Given the description of an element on the screen output the (x, y) to click on. 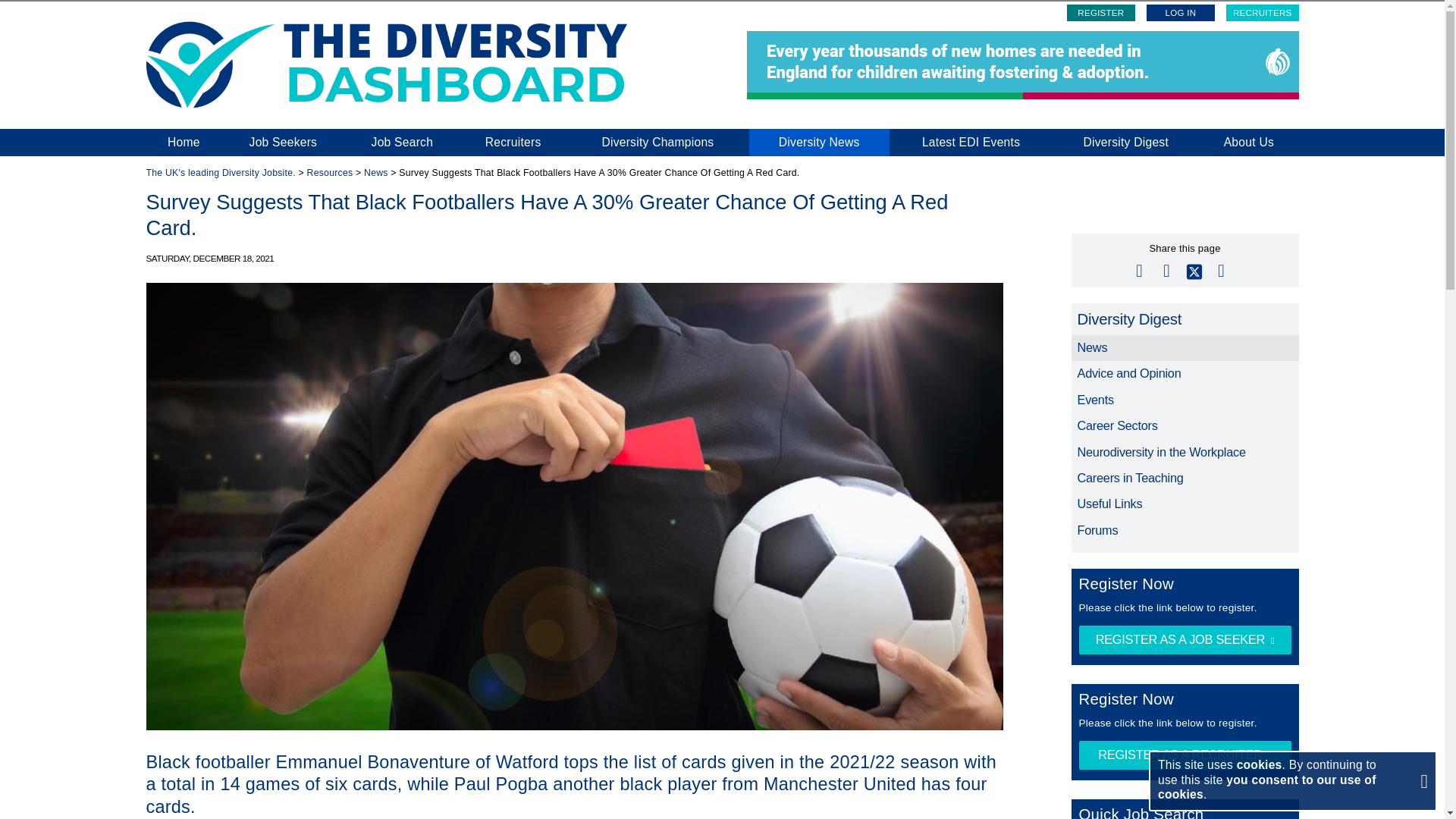
Recruiters (513, 142)
Diversity Digest (1184, 319)
Job Seekers (282, 142)
The UK's leading Diversity Jobsite. (220, 172)
Diversity News (819, 142)
Share via Facebook (1165, 268)
About Us (1248, 142)
Advice and Opinion (1184, 373)
REGISTER (1101, 12)
X (1193, 268)
Events (1184, 400)
Resources (330, 172)
Diversity Champions (657, 142)
Email (1138, 268)
Facebook (1165, 268)
